Given the description of an element on the screen output the (x, y) to click on. 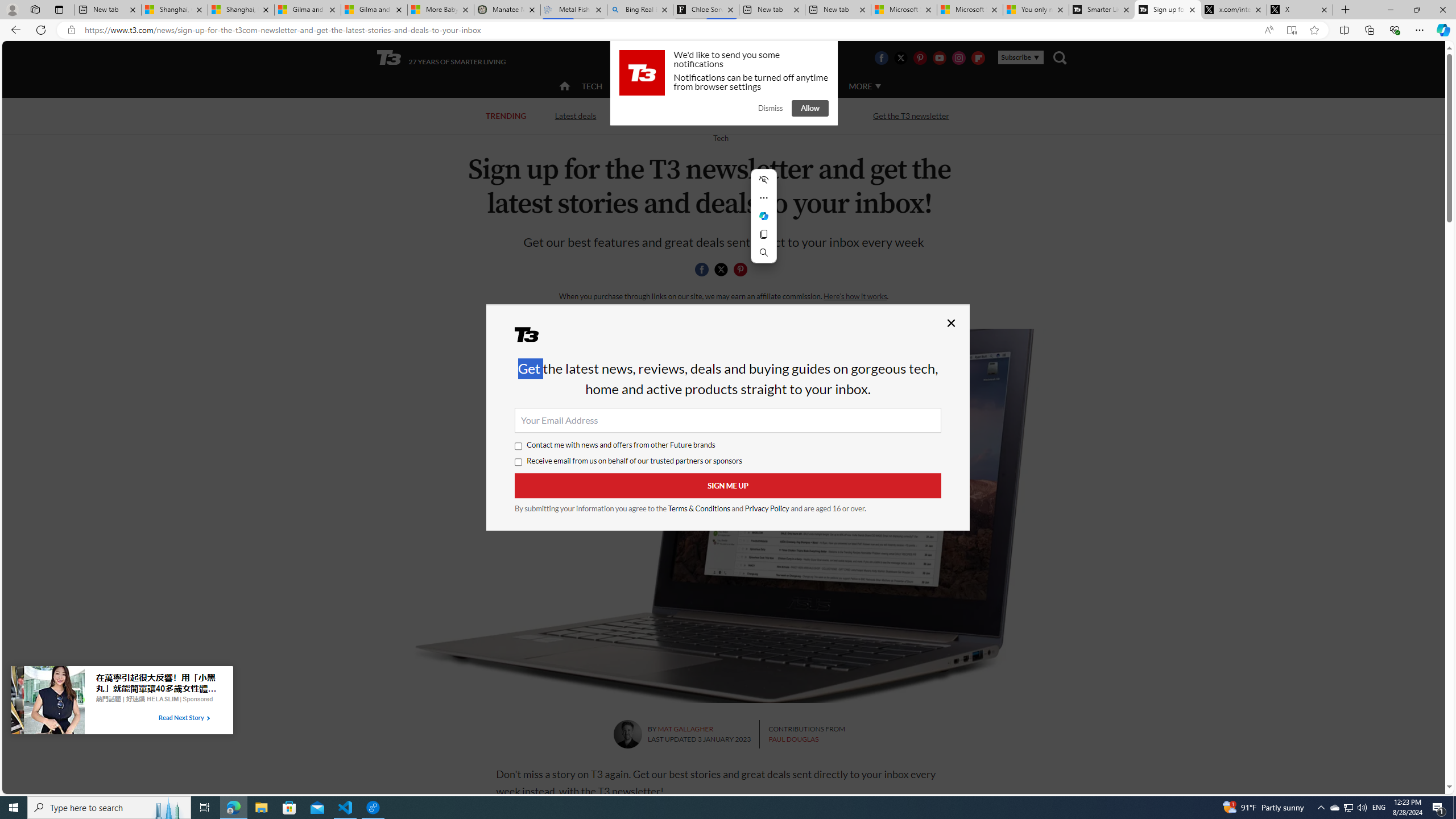
Settings and more (Alt+F) (1419, 29)
Mini menu on text selection (764, 222)
Class: svg-arrow-down (877, 86)
Visit us on Facebook (880, 57)
Close tab (1324, 9)
Allow (810, 107)
Workspaces (34, 9)
Microsoft Start Sports (904, 9)
Copy (763, 234)
AUTO (815, 86)
Class: navigation__item (563, 86)
Bing Real Estate - Home sales and rental listings (640, 9)
UK Edition (736, 57)
